Given the description of an element on the screen output the (x, y) to click on. 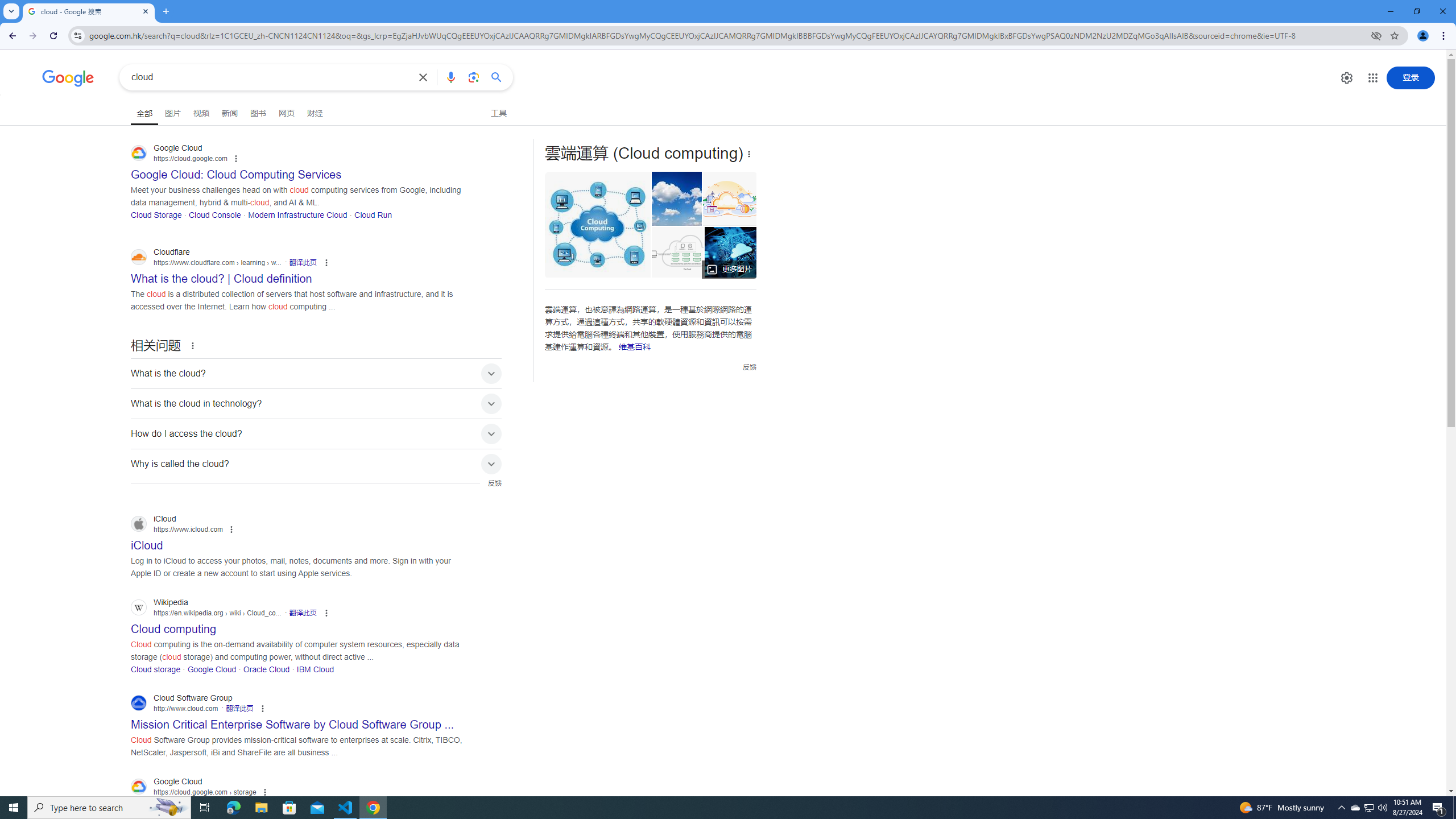
Cloud Storage (156, 214)
What is cloud computing? Everything you need to know now ... (742, 251)
